Given the description of an element on the screen output the (x, y) to click on. 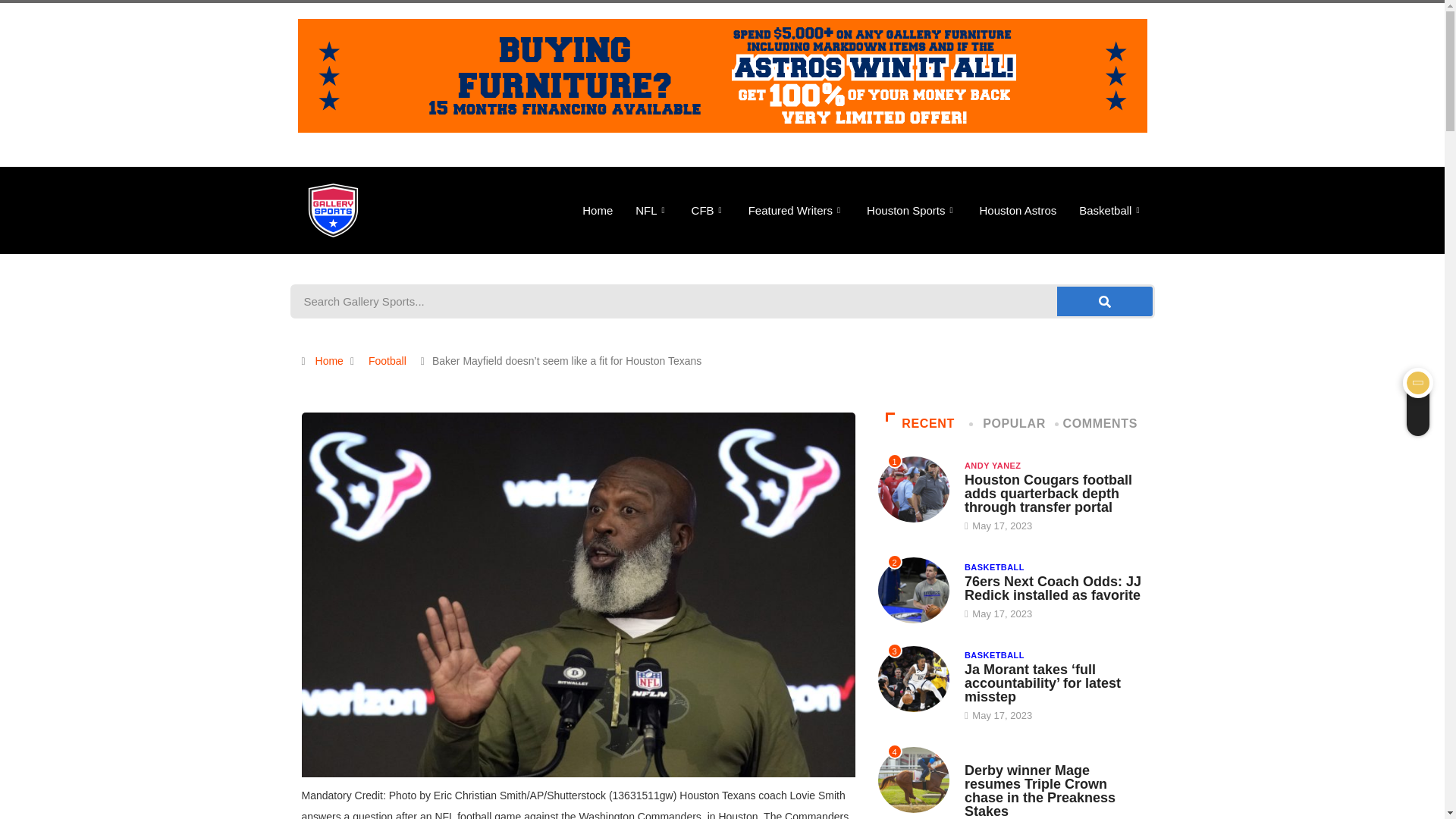
Houston Sports (912, 210)
CFB (707, 210)
Houston Astros (1018, 210)
Basketball (1110, 210)
Featured Writers (796, 210)
Search (674, 301)
Search (1105, 301)
NFL (651, 210)
